Given the description of an element on the screen output the (x, y) to click on. 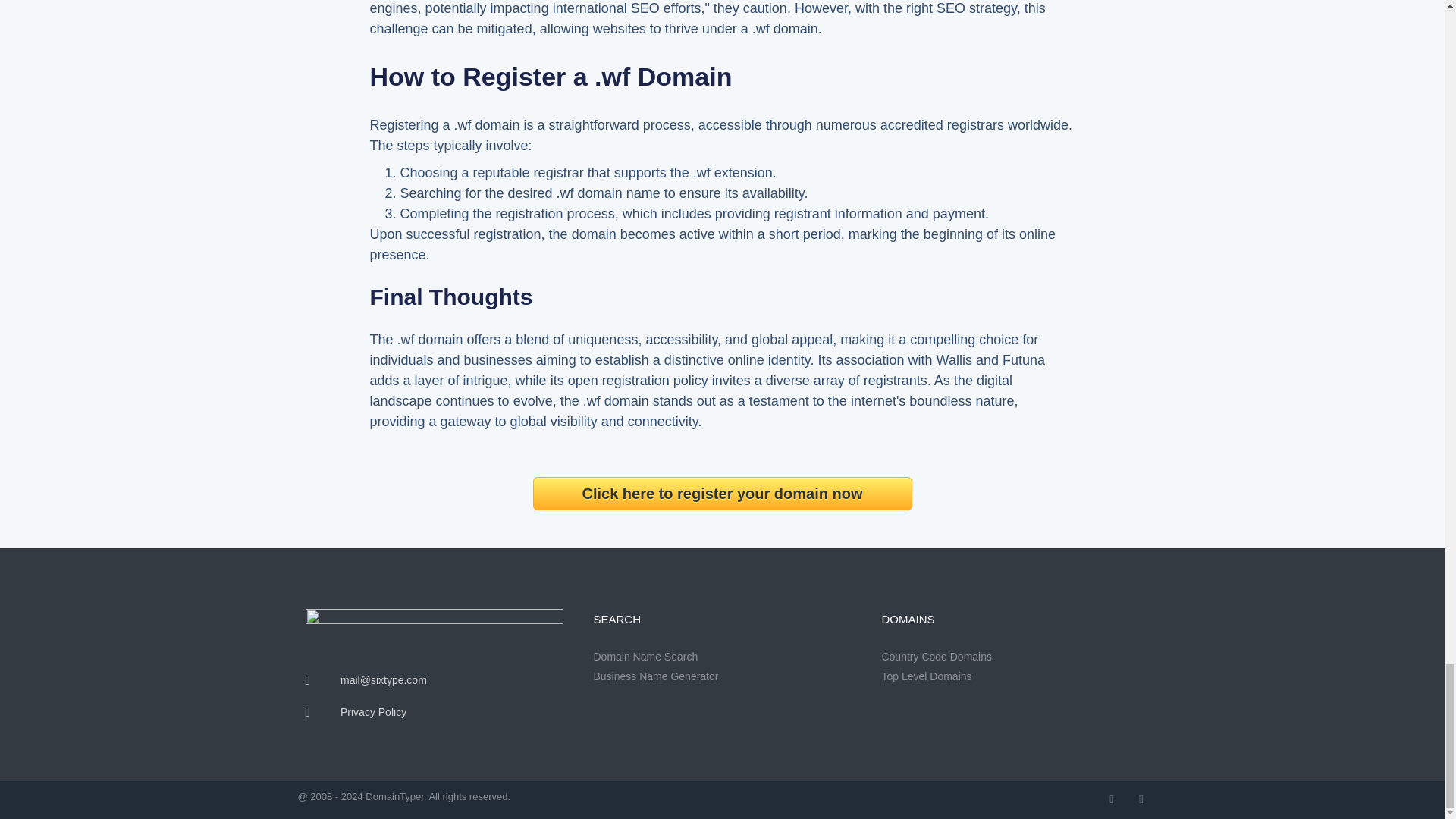
Privacy Policy (433, 712)
Domain Name Search (721, 657)
Country Code Domains (1009, 657)
Business Name Generator (721, 676)
Click here to register your domain now (721, 493)
Top Level Domains (1009, 676)
